Given the description of an element on the screen output the (x, y) to click on. 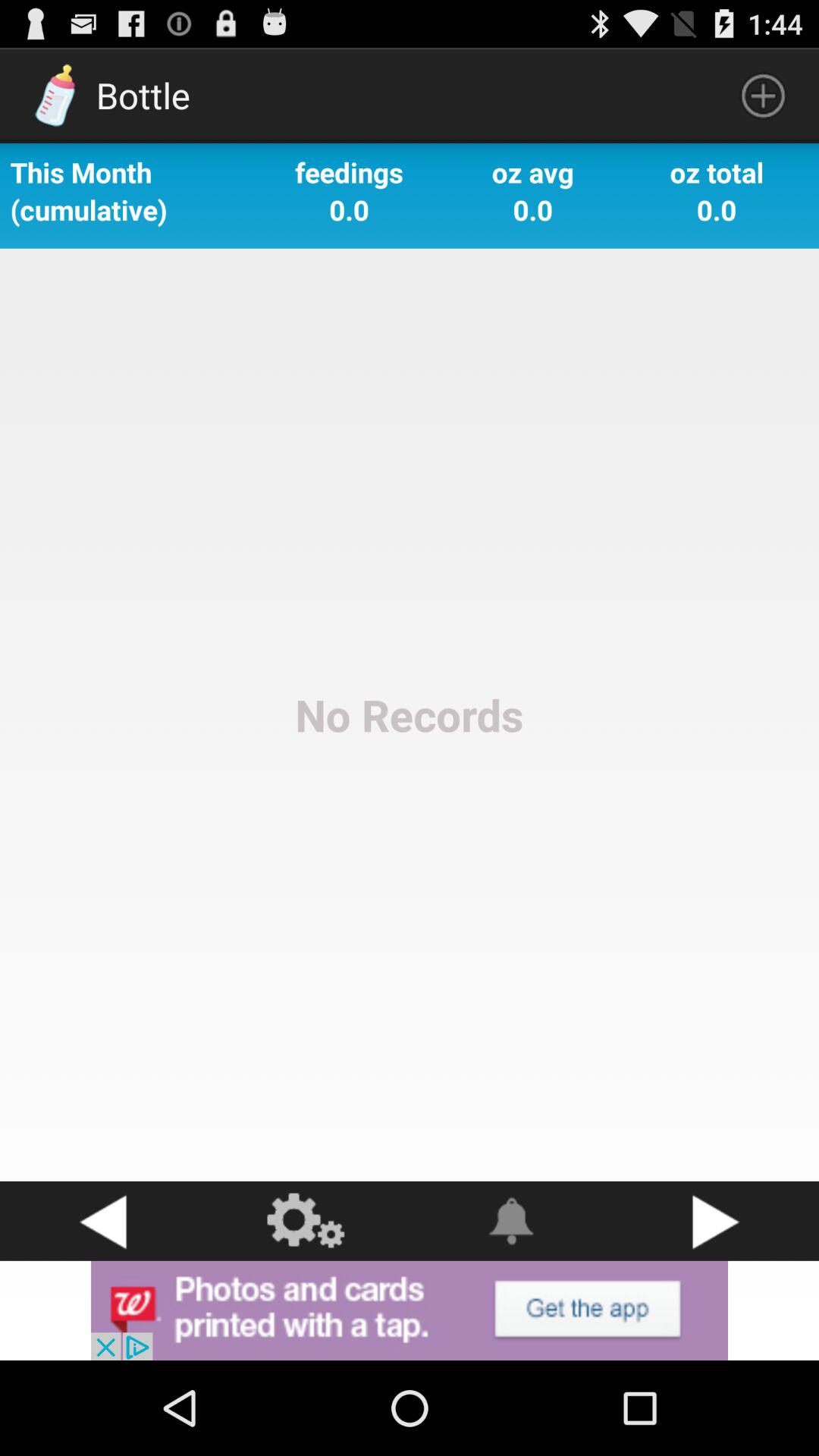
go next (716, 1220)
